Given the description of an element on the screen output the (x, y) to click on. 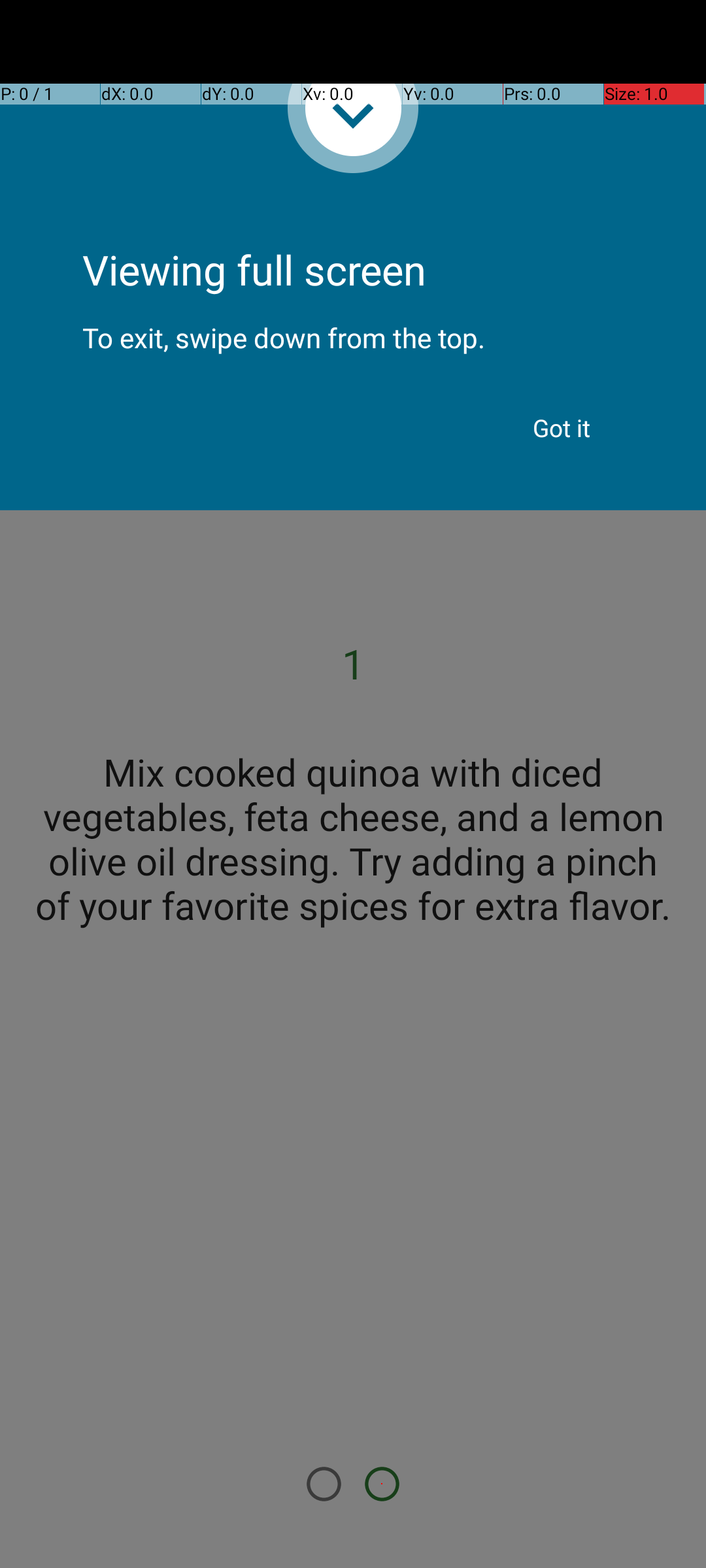
Mix cooked quinoa with diced vegetables, feta cheese, and a lemon olive oil dressing. Try adding a pinch of your favorite spices for extra flavor. Element type: android.widget.TextView (352, 838)
Viewing full screen Element type: android.widget.TextView (353, 235)
To exit, swipe down from the top. Element type: android.widget.TextView (353, 326)
Got it Element type: android.widget.Button (561, 427)
